Given the description of an element on the screen output the (x, y) to click on. 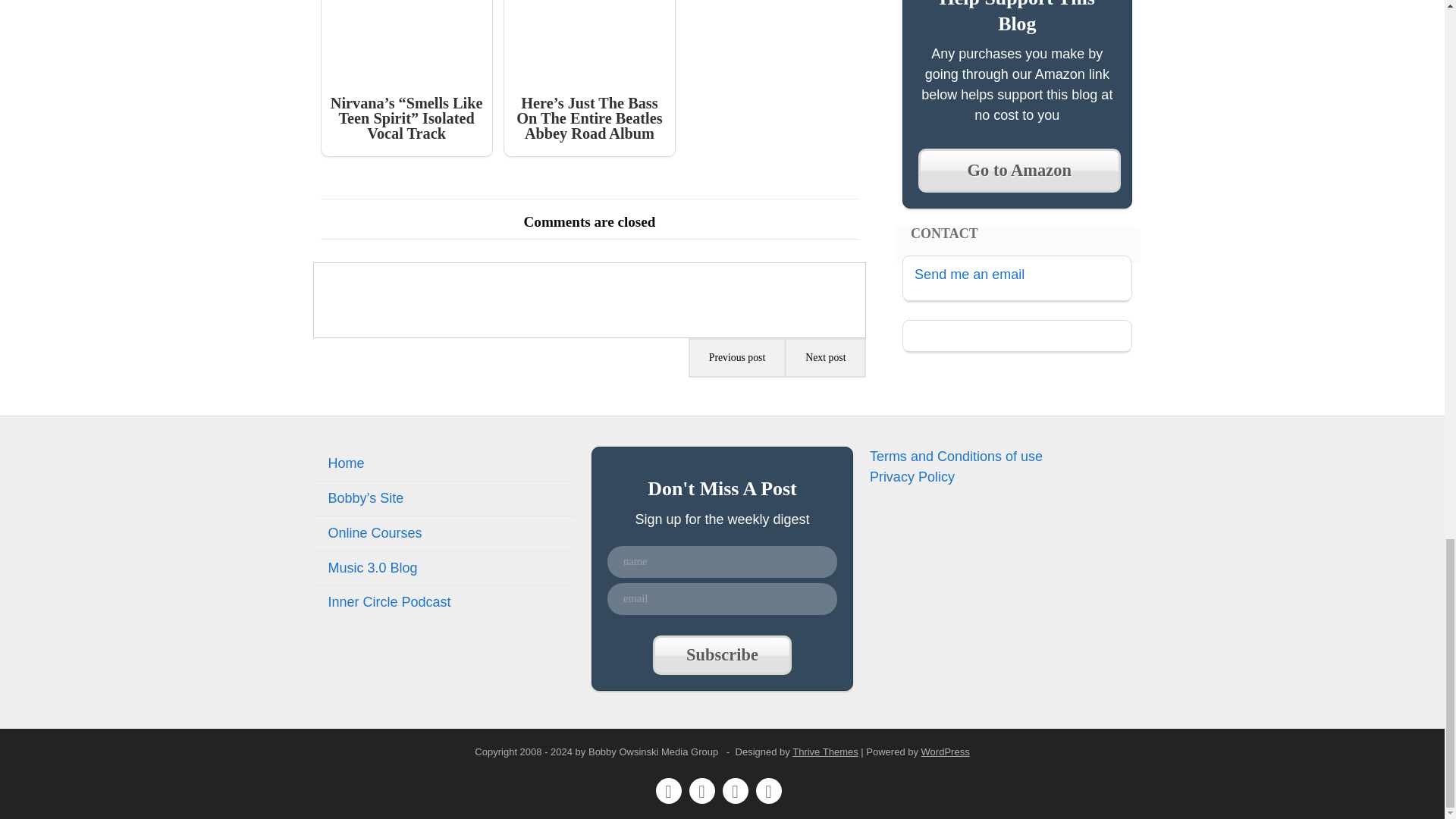
Subscribe (721, 654)
Previous post (737, 357)
Next post (825, 357)
